Given the description of an element on the screen output the (x, y) to click on. 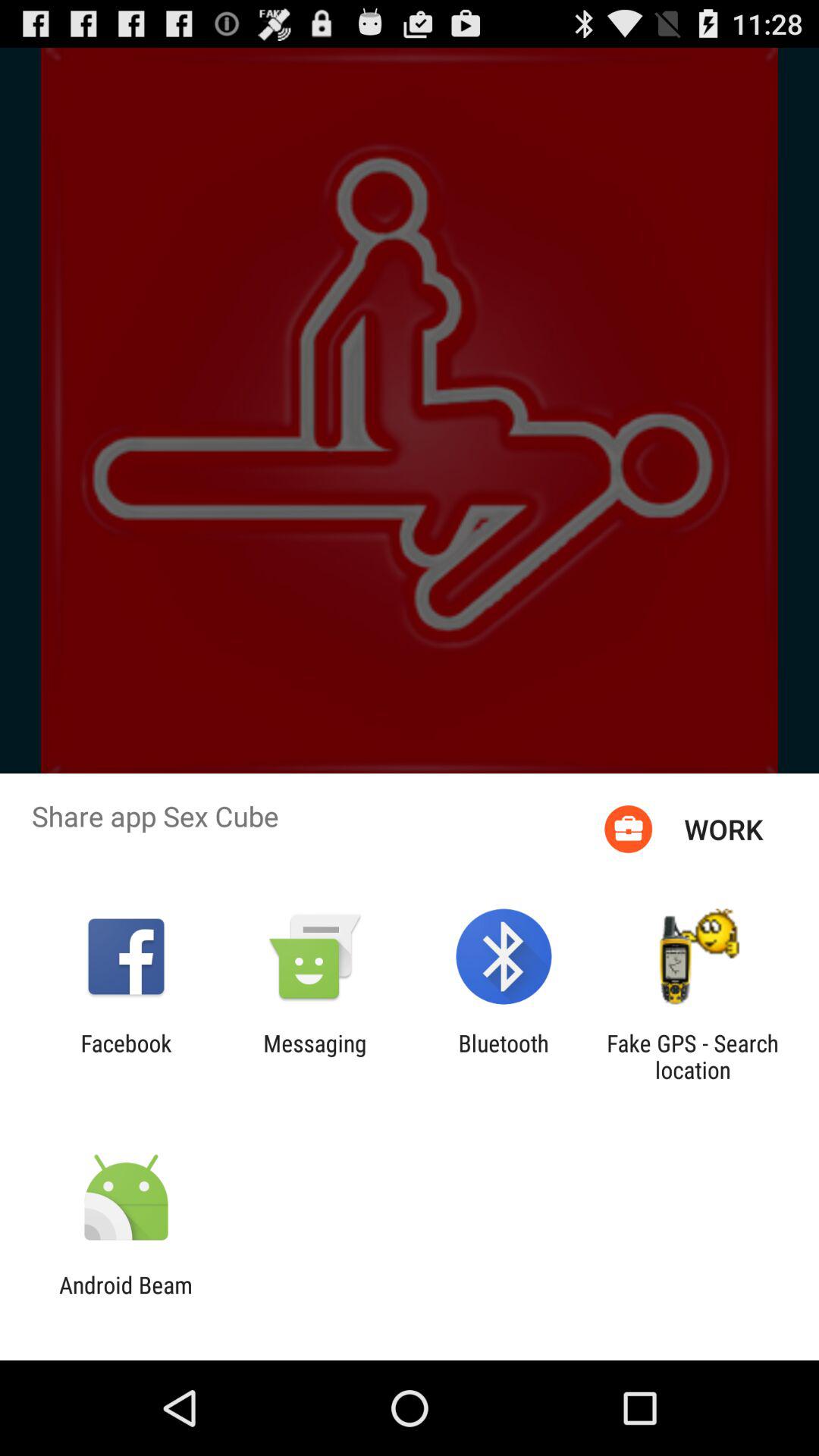
select app next to the messaging item (125, 1056)
